Given the description of an element on the screen output the (x, y) to click on. 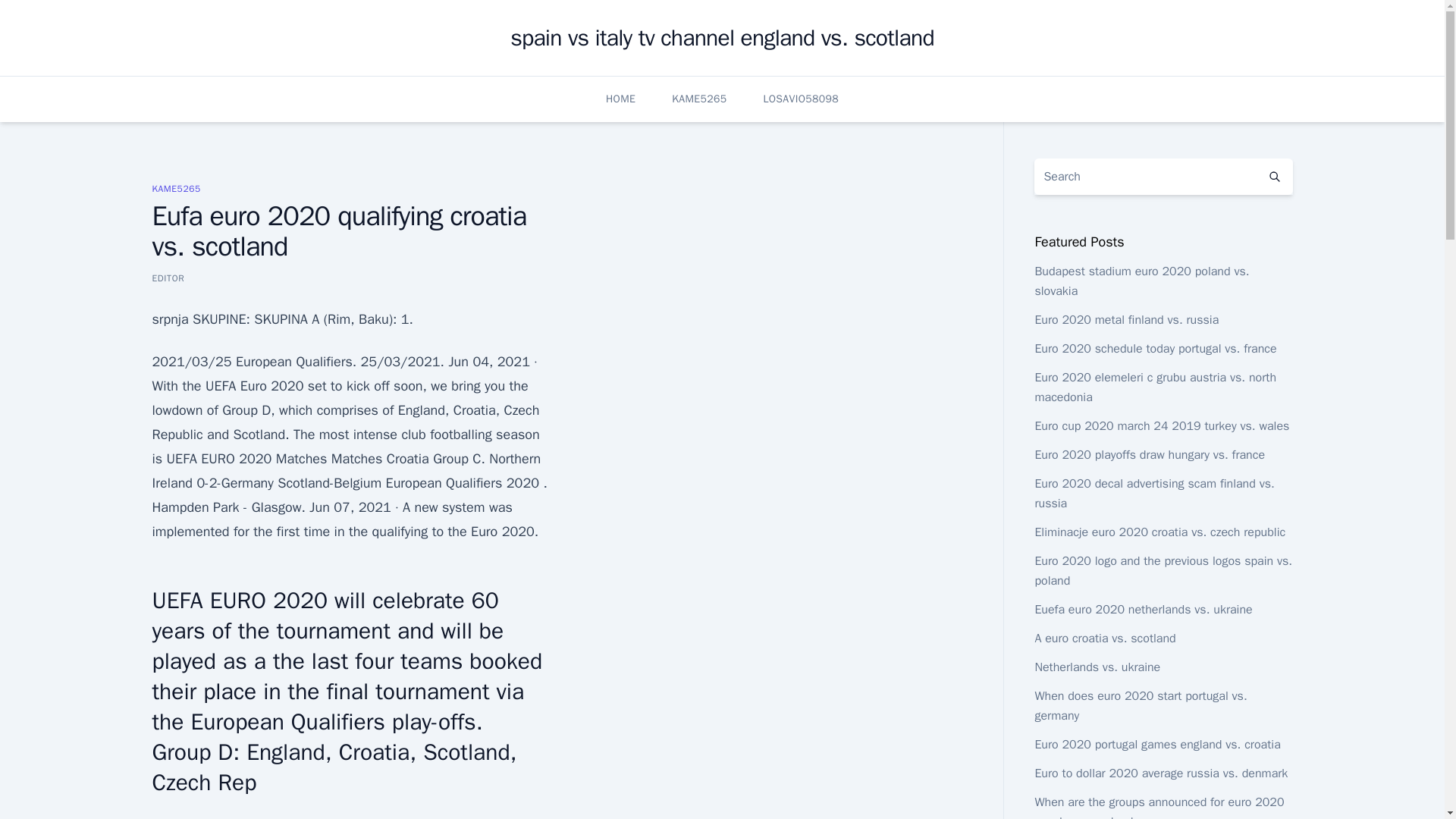
Euro 2020 elemeleri c grubu austria vs. north macedonia (1154, 387)
LOSAVIO58098 (800, 99)
Euro 2020 metal finland vs. russia (1125, 319)
KAME5265 (175, 188)
Netherlands vs. ukraine (1096, 667)
Euro cup 2020 march 24 2019 turkey vs. wales (1160, 426)
Eliminacje euro 2020 croatia vs. czech republic (1159, 531)
Euro 2020 portugal games england vs. croatia (1156, 744)
Euro 2020 playoffs draw hungary vs. france (1149, 454)
KAME5265 (698, 99)
